Given the description of an element on the screen output the (x, y) to click on. 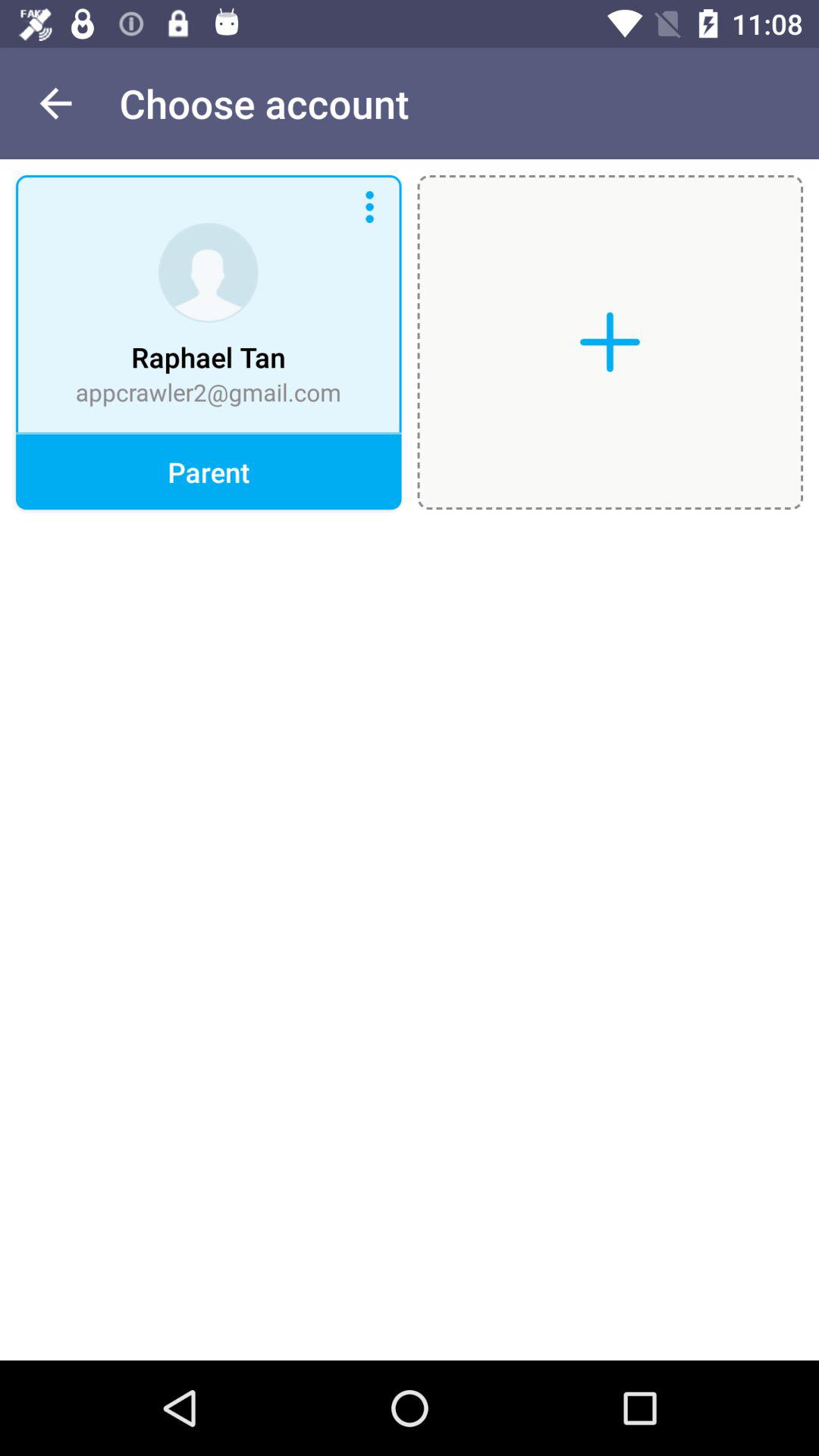
open options (369, 206)
